Given the description of an element on the screen output the (x, y) to click on. 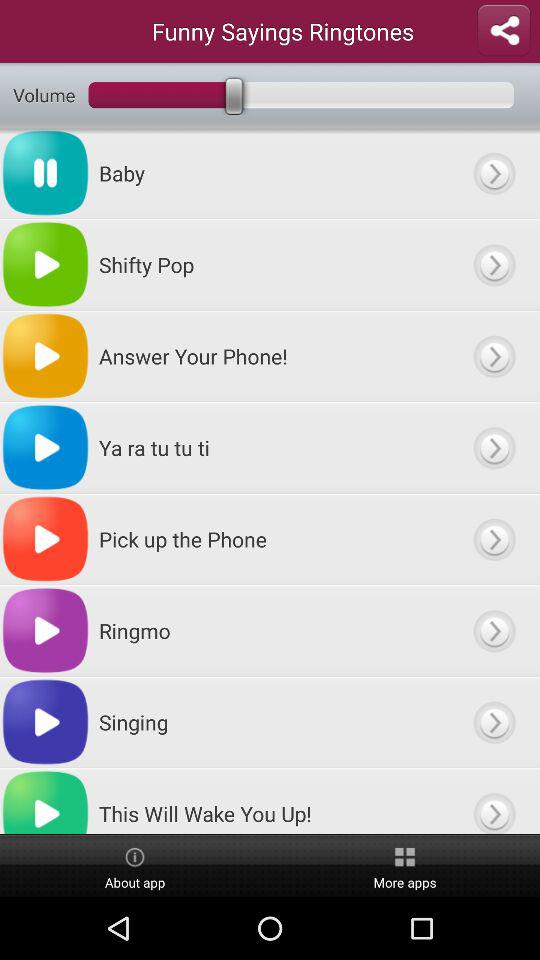
play button (494, 539)
